Given the description of an element on the screen output the (x, y) to click on. 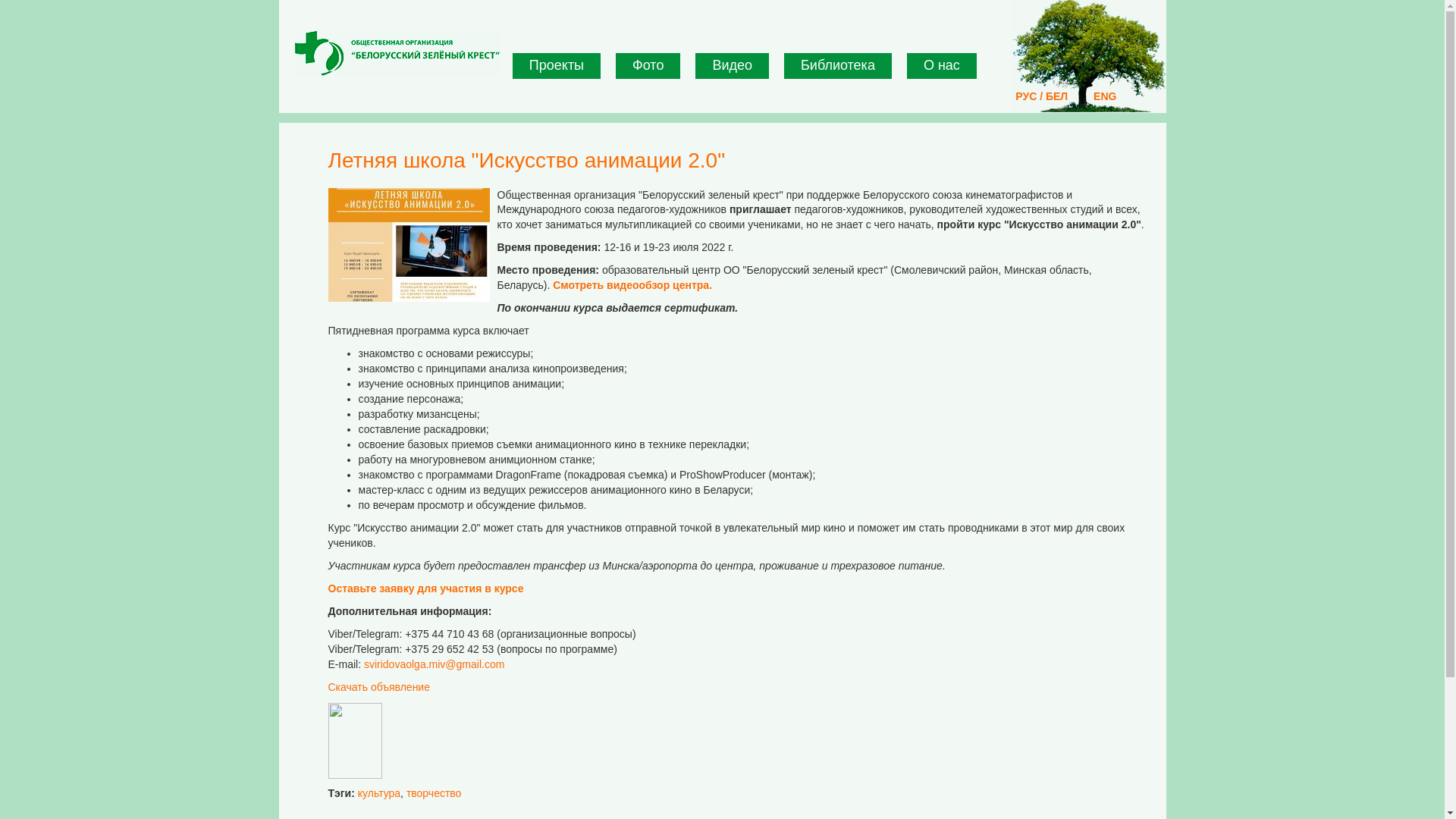
ENG Element type: text (1104, 96)
sviridovaolga.miv@gmail.com Element type: text (434, 664)
. Element type: text (710, 285)
